Given the description of an element on the screen output the (x, y) to click on. 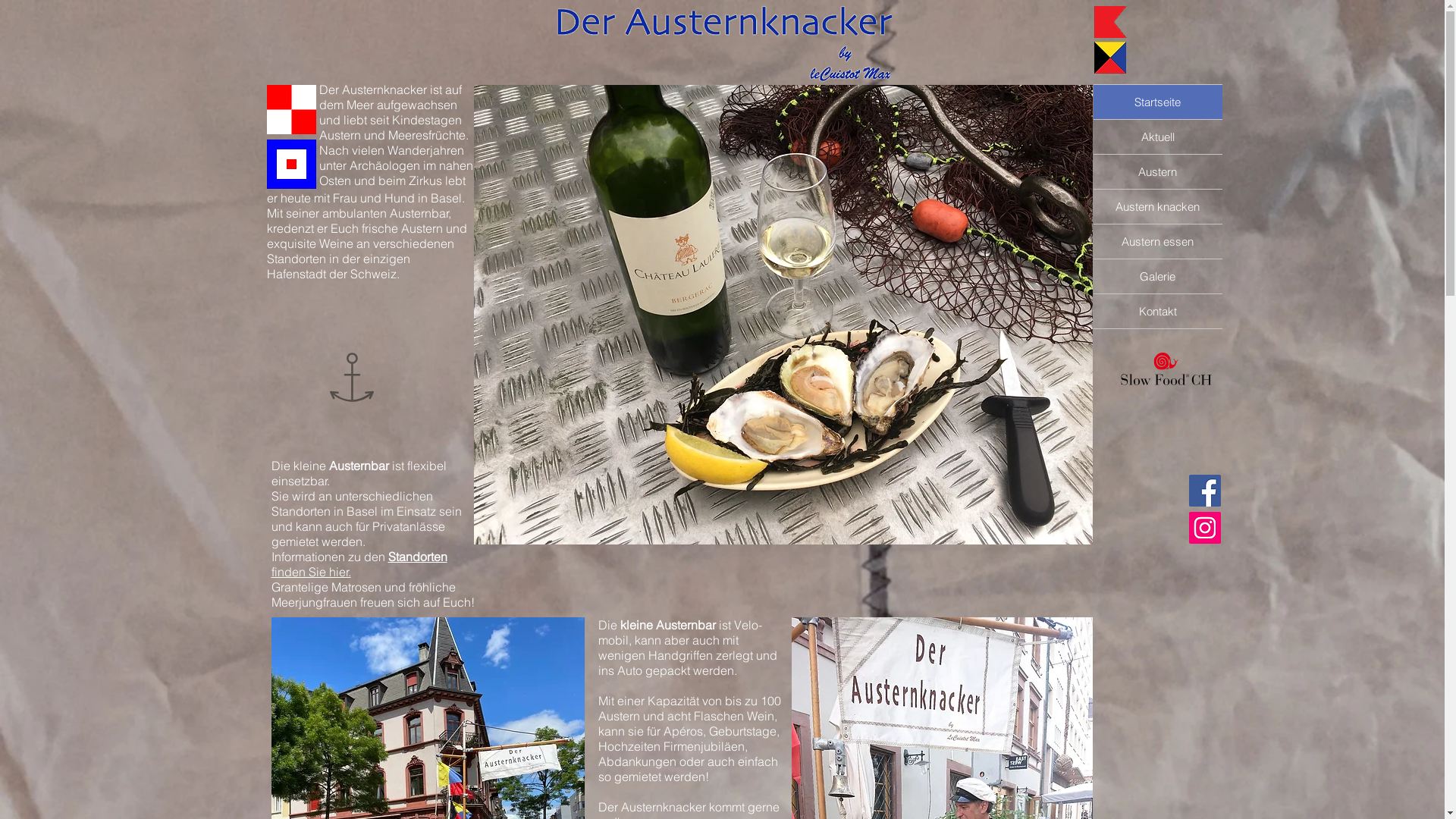
Austern essen Element type: text (1157, 241)
Startseite Element type: text (1157, 101)
Standorten Element type: text (417, 556)
Aktuell Element type: text (1157, 136)
finden Sie hier. Element type: text (311, 571)
Galerie Element type: text (1157, 276)
Austern knacken Element type: text (1157, 206)
Kontakt Element type: text (1157, 311)
Austern Element type: text (1157, 171)
